Given the description of an element on the screen output the (x, y) to click on. 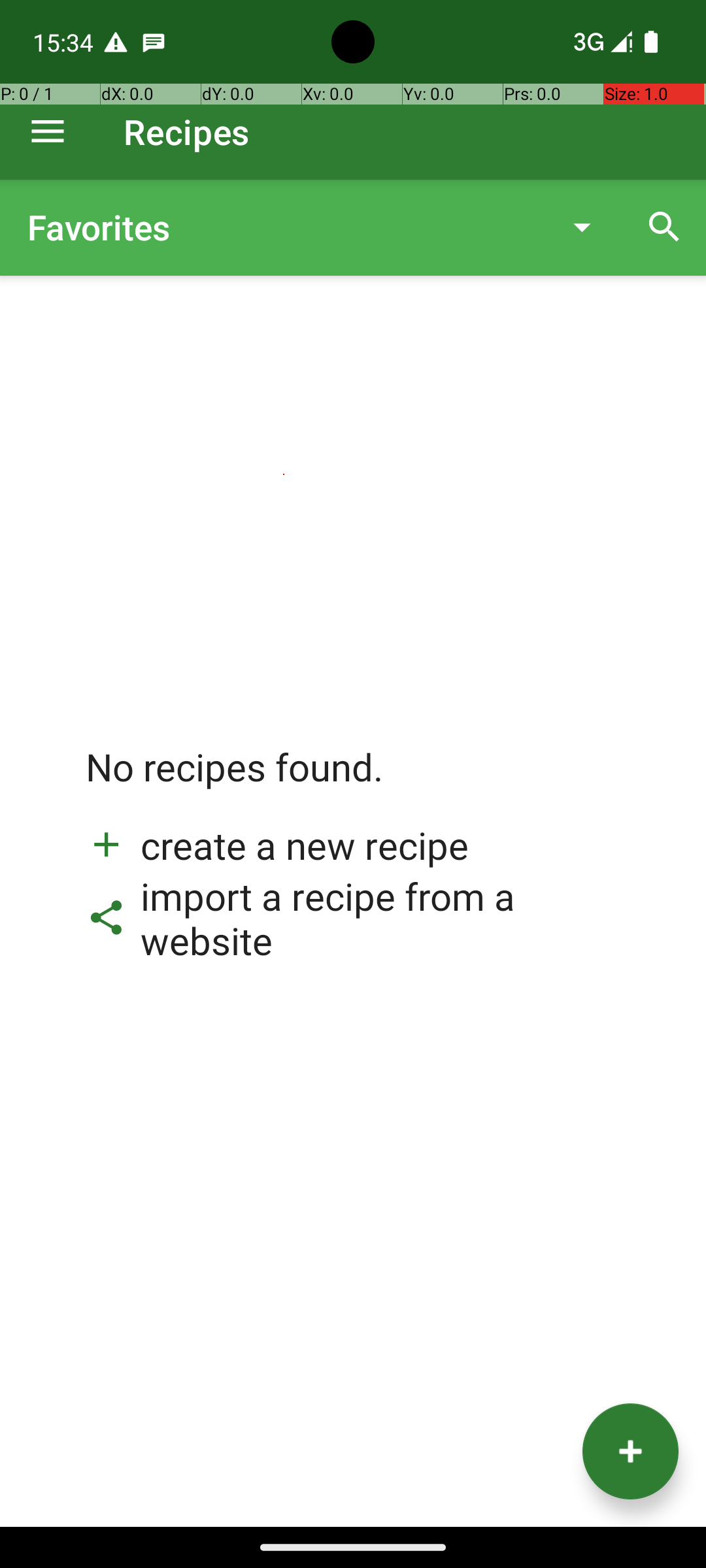
No recipes found. Element type: android.widget.TextView (234, 779)
create a new recipe Element type: android.widget.TextView (276, 844)
import a recipe from a website Element type: android.widget.TextView (352, 917)
